Given the description of an element on the screen output the (x, y) to click on. 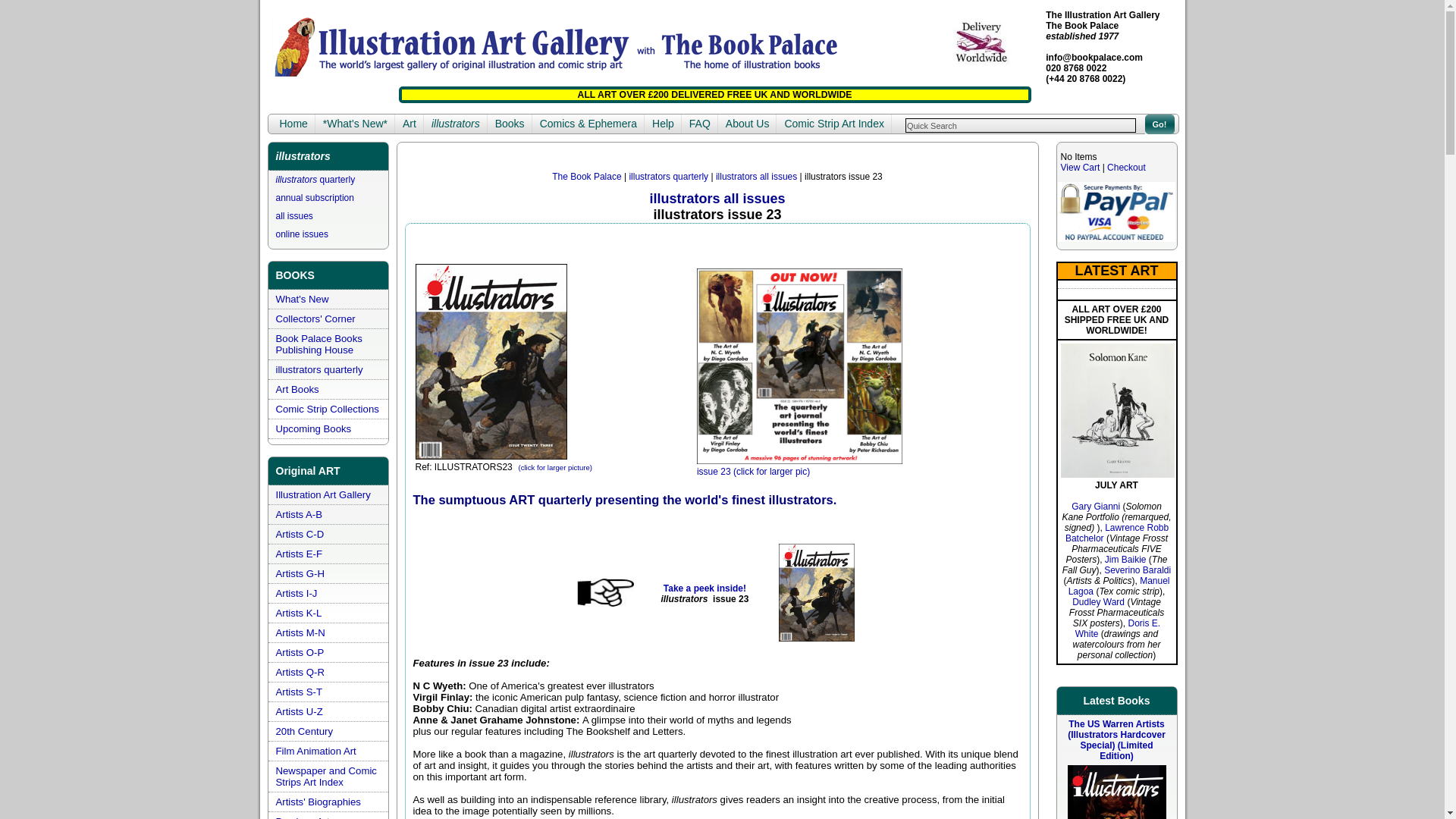
Collectors' Corner (315, 318)
Illustration Books (509, 123)
illustrators quarterly (315, 179)
Frequently Asked Questions (699, 123)
illustrators quarterly (319, 369)
Quick Search (1020, 124)
About Us (747, 123)
What's New (302, 298)
Artists K-L (298, 613)
all issues (294, 215)
Artists M-N (300, 632)
Help (663, 123)
annual subscription (314, 197)
Artists E-F (299, 553)
we deliver everywhere! (980, 42)
